Given the description of an element on the screen output the (x, y) to click on. 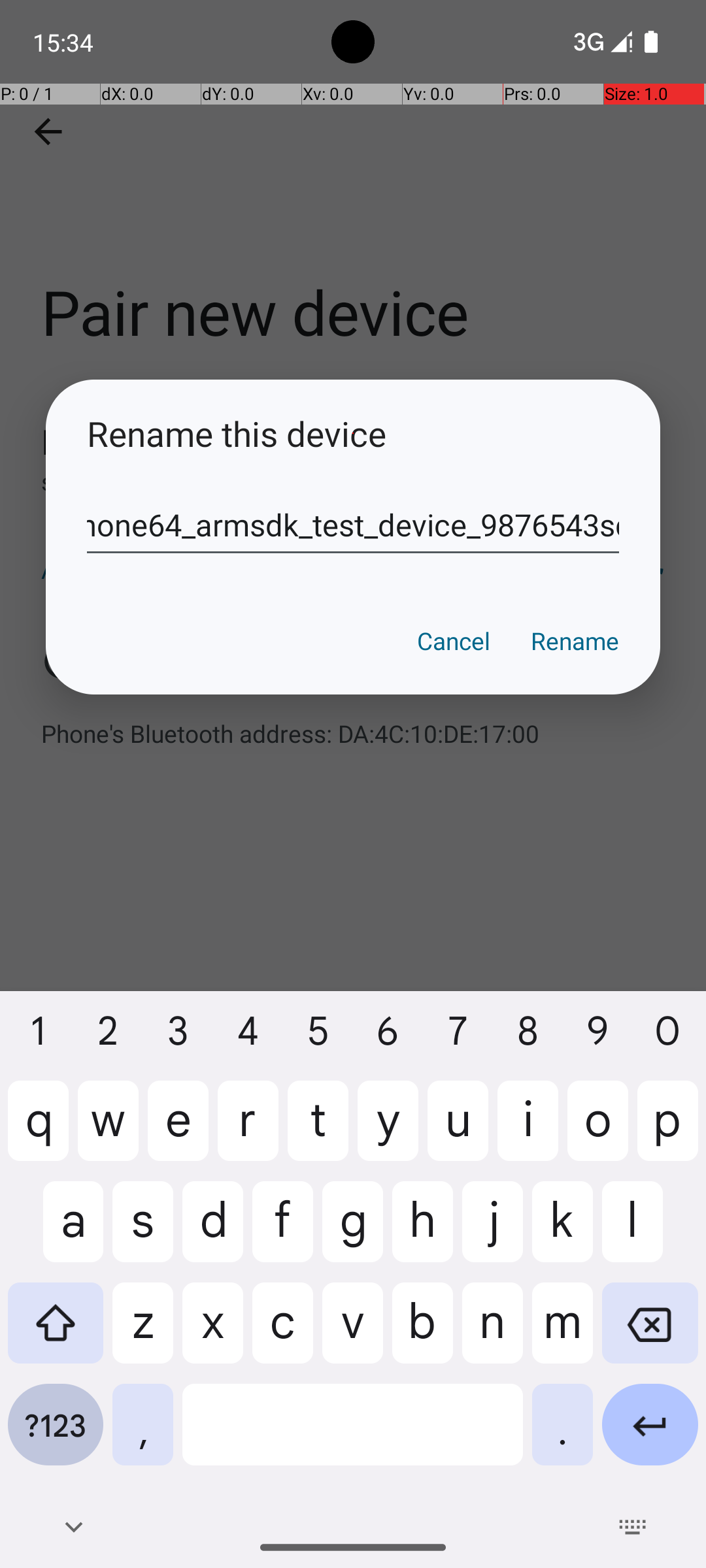
Rename this device Element type: android.widget.TextView (352, 433)
sdk_gphone64_armsdk_test_device_9876543sdk_device_1234564 Element type: android.widget.EditText (352, 525)
Rename Element type: android.widget.Button (574, 640)
